Given the description of an element on the screen output the (x, y) to click on. 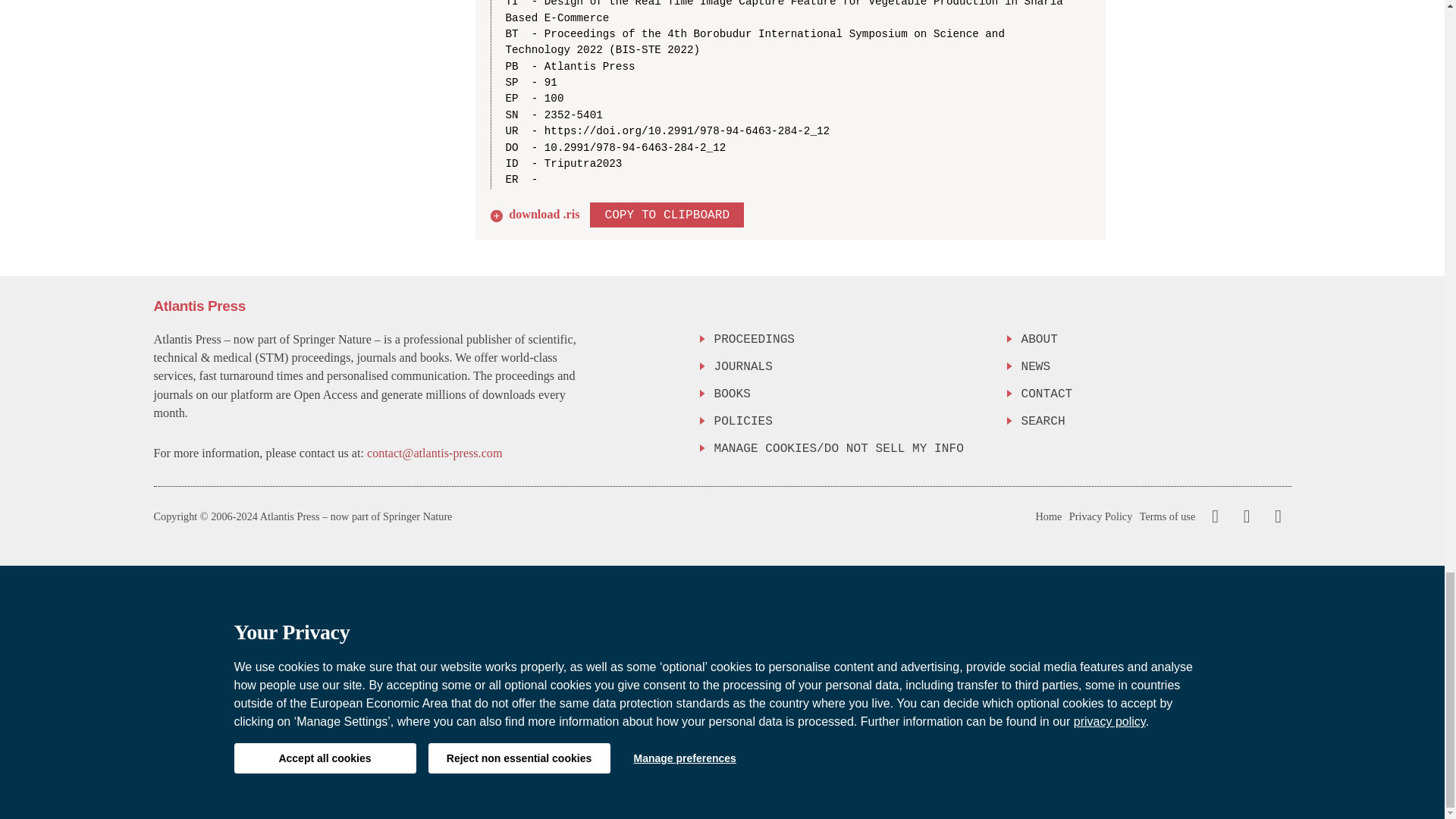
Twitter (1243, 516)
LinkedIn (1275, 516)
Facebook (1215, 516)
